Given the description of an element on the screen output the (x, y) to click on. 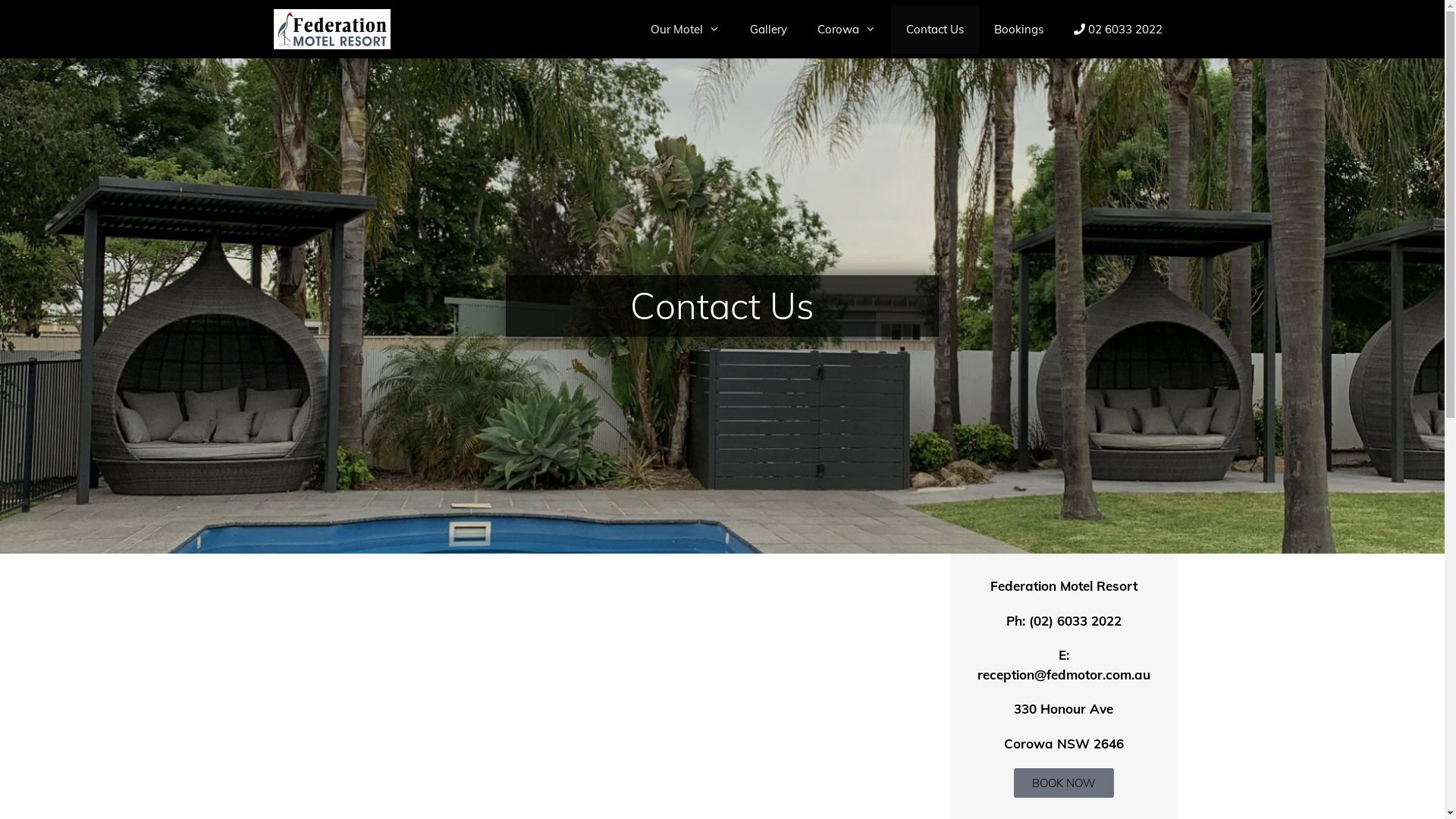
BOOK NOW Element type: text (1063, 782)
(02) 6033 2022 Element type: text (1074, 620)
Gallery Element type: text (767, 28)
reception@fedmotor.com.au Element type: text (1062, 674)
Motel Corowa Accommodation | Federation Motel Resort Element type: hover (331, 28)
30 Honour Avenue, Corowa Element type: hover (608, 697)
Contact Us Element type: text (934, 28)
Our Motel Element type: text (684, 28)
Corowa Element type: text (846, 28)
Bookings Element type: text (1017, 28)
02 6033 2022 Element type: text (1117, 28)
